Given the description of an element on the screen output the (x, y) to click on. 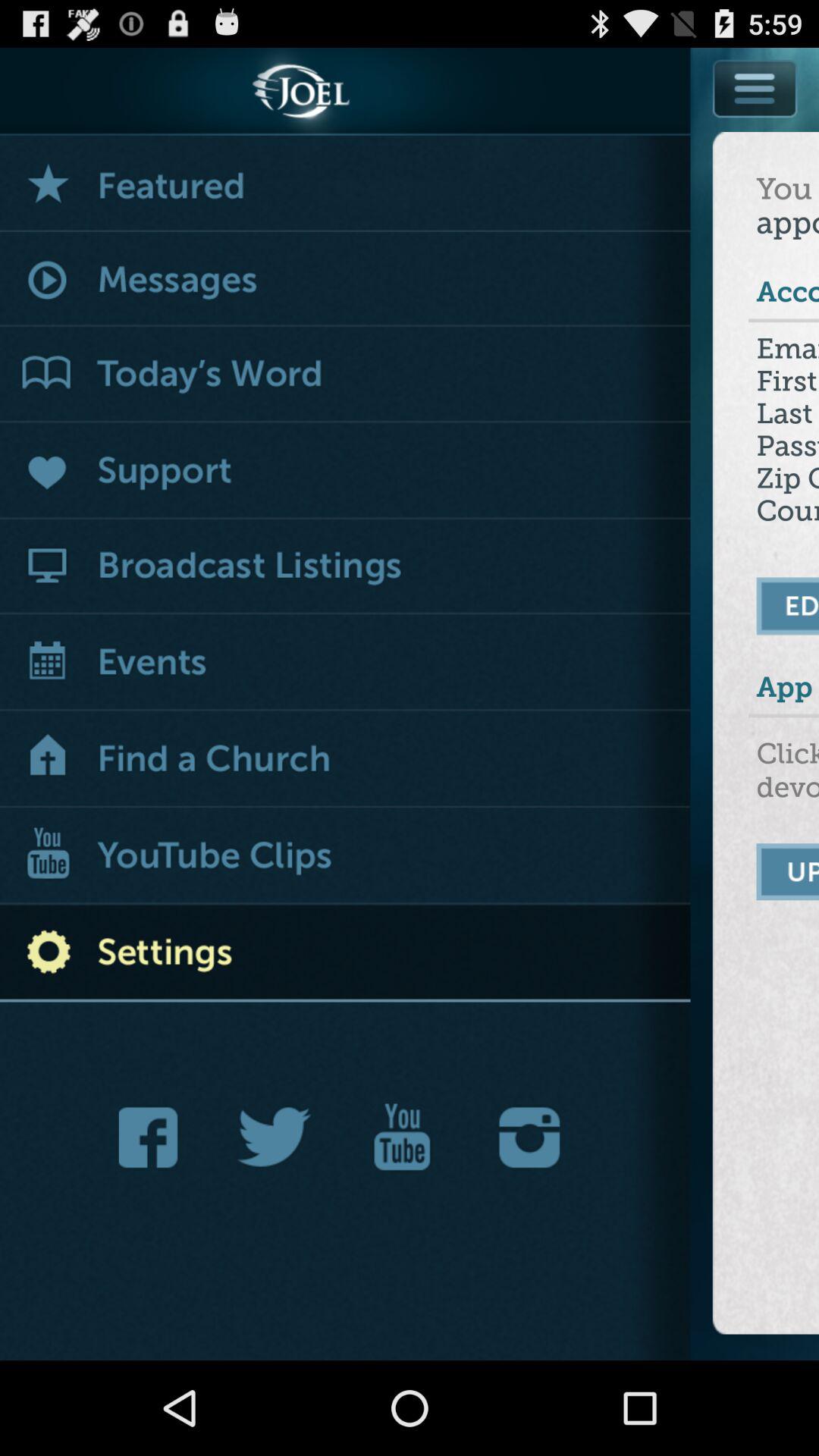
launch app to the left of the last name (345, 471)
